Given the description of an element on the screen output the (x, y) to click on. 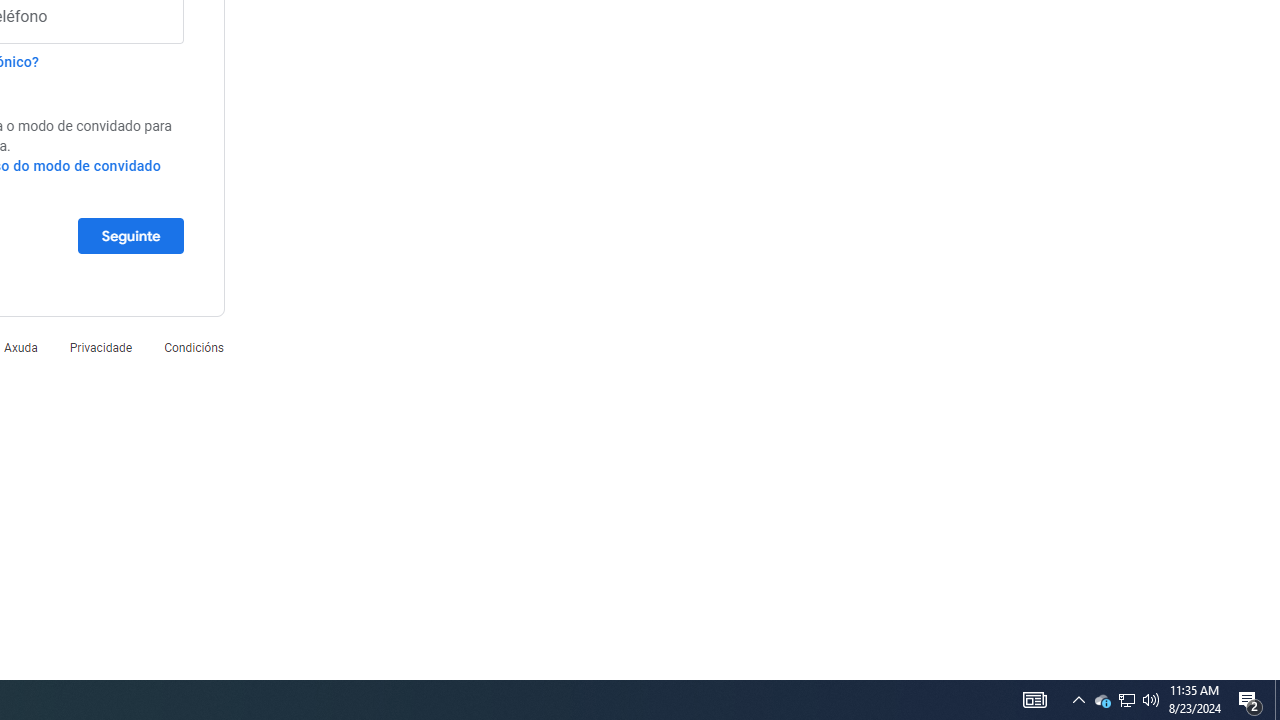
Privacidade (100, 347)
Seguinte (130, 235)
